Given the description of an element on the screen output the (x, y) to click on. 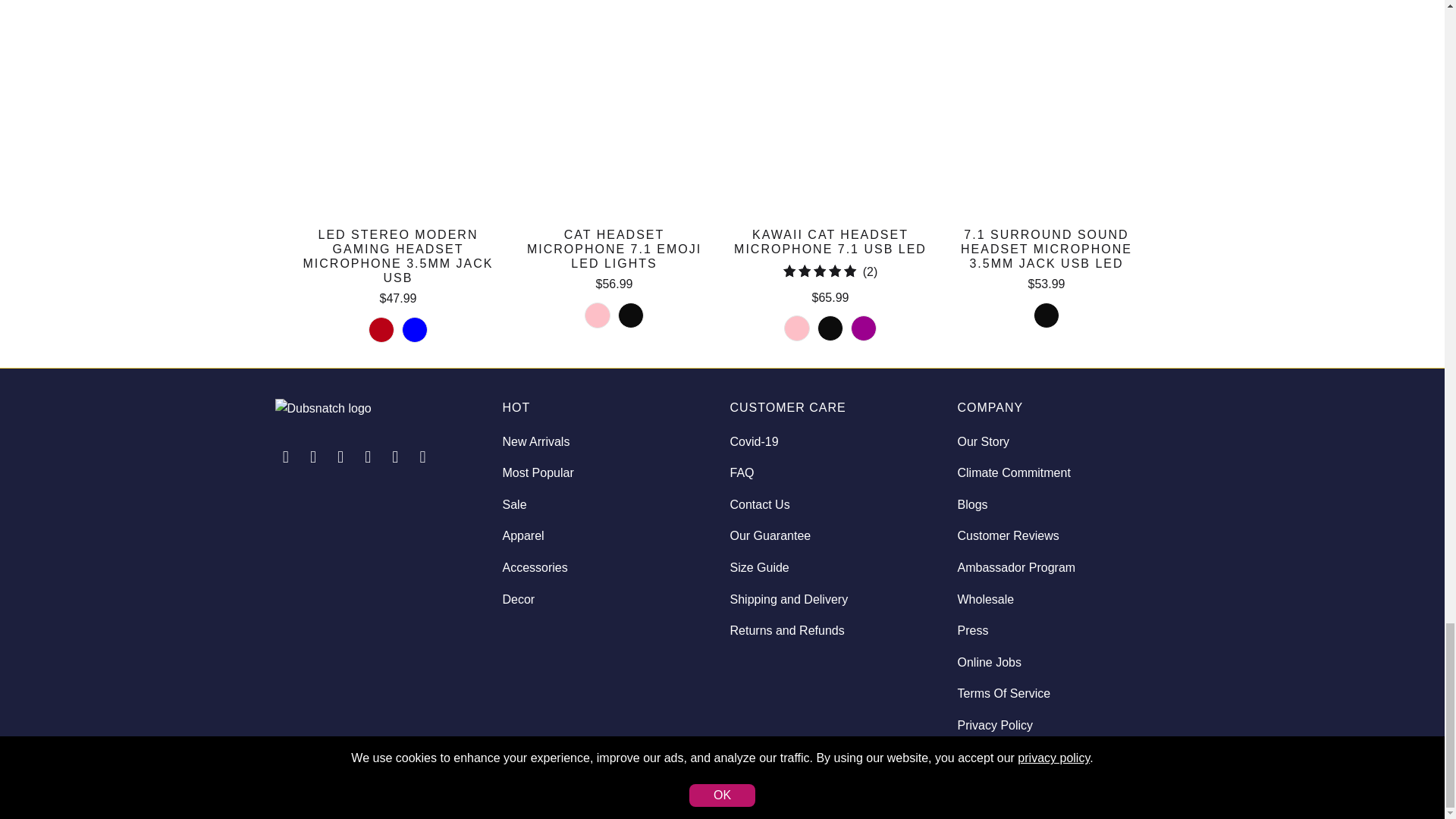
Mastercard (1072, 781)
Shop Pay (1111, 781)
Visa (1150, 781)
American Express (1031, 781)
